Given the description of an element on the screen output the (x, y) to click on. 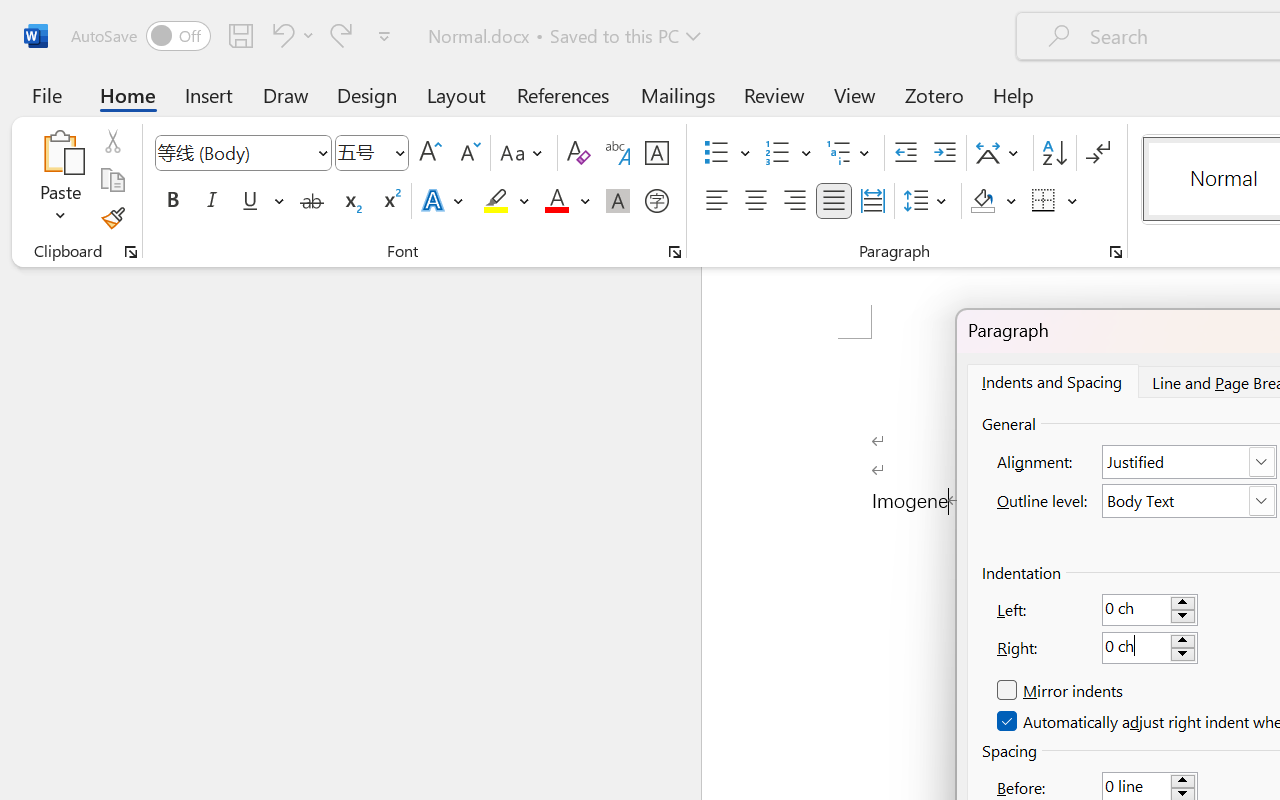
Open (399, 152)
Help (1013, 94)
Superscript (390, 201)
Distributed (872, 201)
Redo Style (341, 35)
Text Highlight Color Yellow (495, 201)
Mirror indents (1061, 691)
Asian Layout (1000, 153)
Left: (1150, 609)
Phonetic Guide... (618, 153)
